Given the description of an element on the screen output the (x, y) to click on. 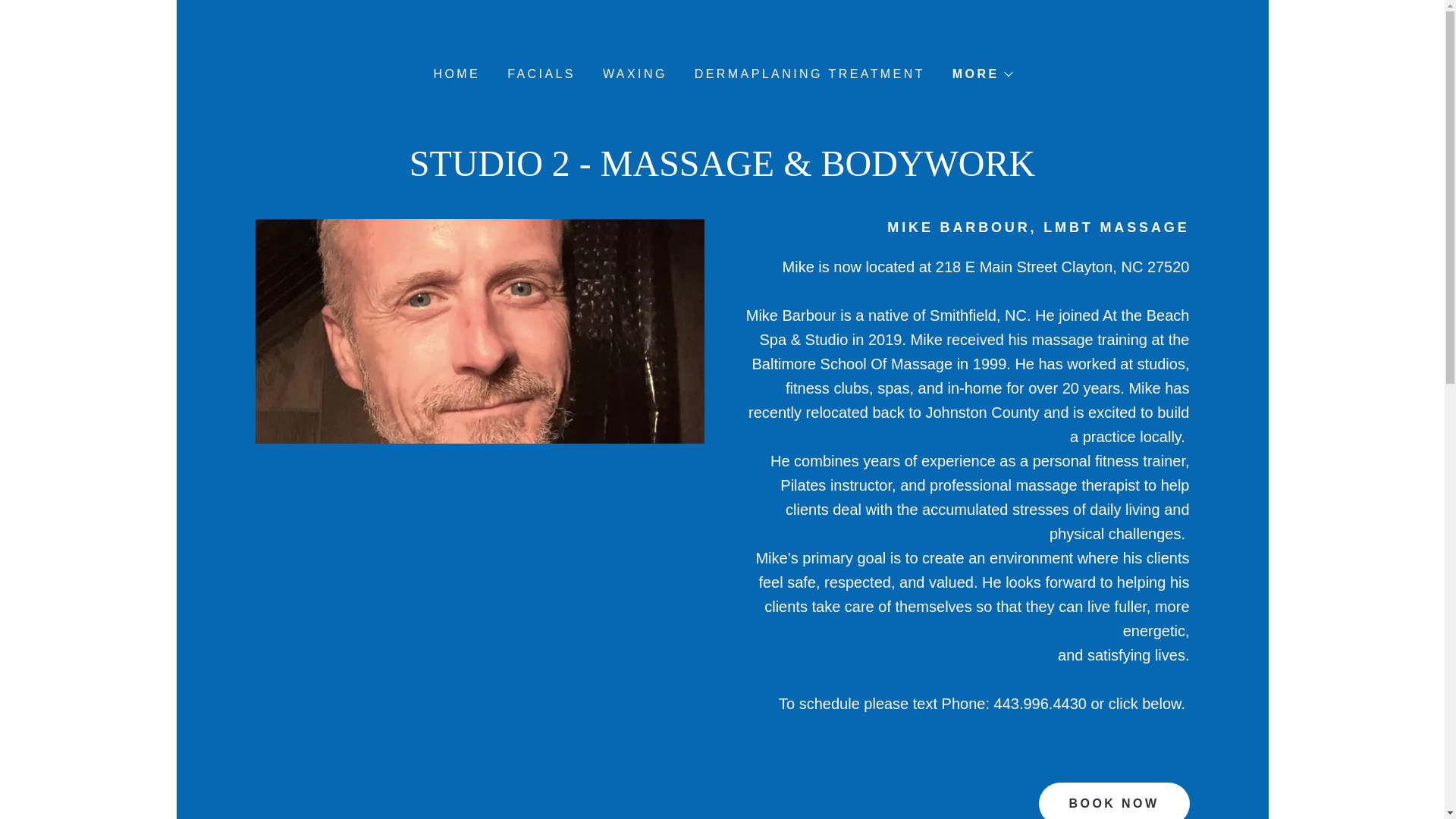
HOME (454, 73)
WAXING (633, 73)
DERMAPLANING TREATMENT (808, 73)
MORE (981, 74)
FACIALS (539, 73)
BOOK NOW (1114, 800)
